Given the description of an element on the screen output the (x, y) to click on. 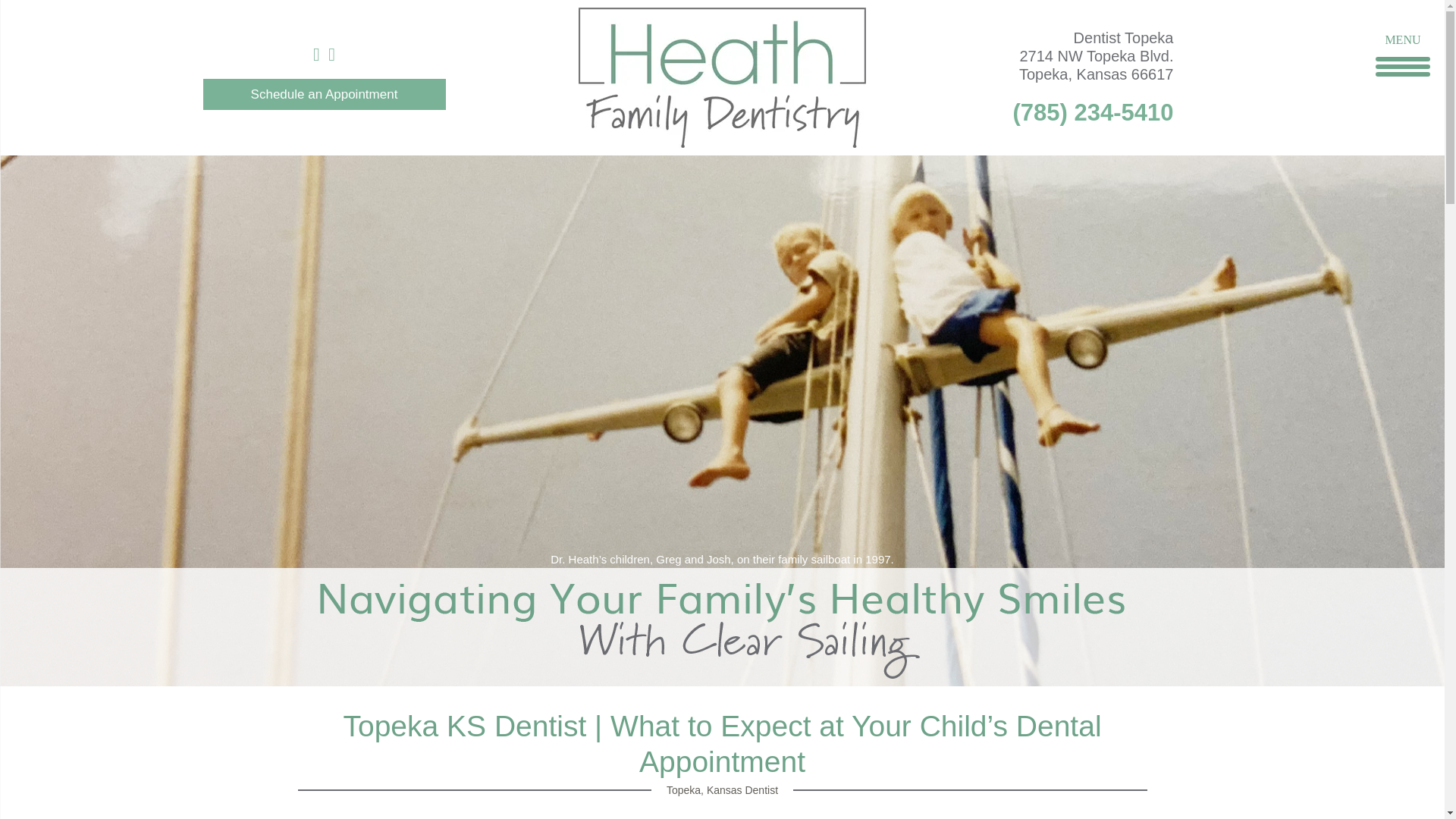
Schedule an Appointment (324, 93)
